Given the description of an element on the screen output the (x, y) to click on. 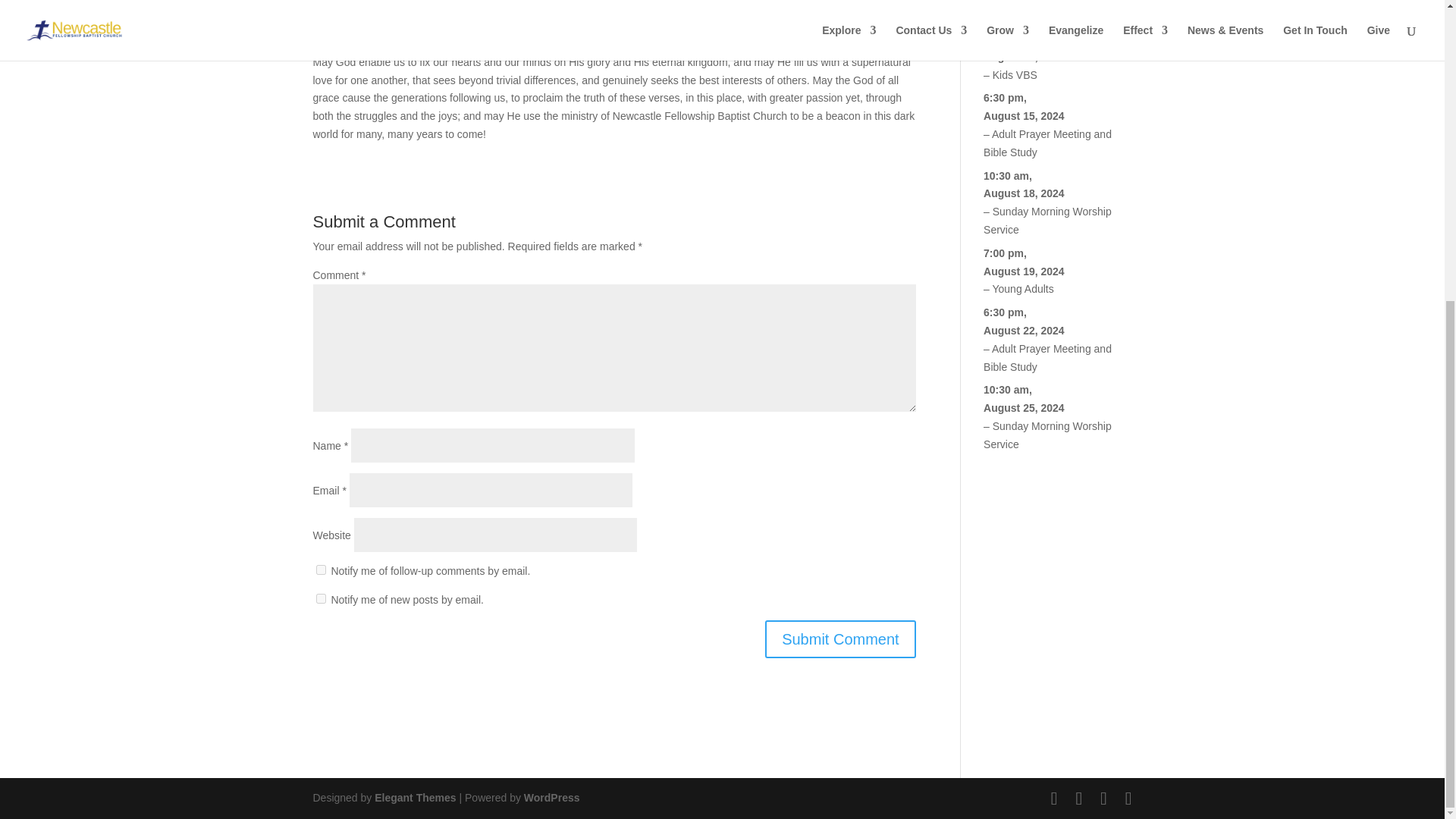
Submit Comment (840, 638)
subscribe (319, 569)
subscribe (319, 598)
Submit Comment (840, 638)
Premium WordPress Themes (414, 797)
